Given the description of an element on the screen output the (x, y) to click on. 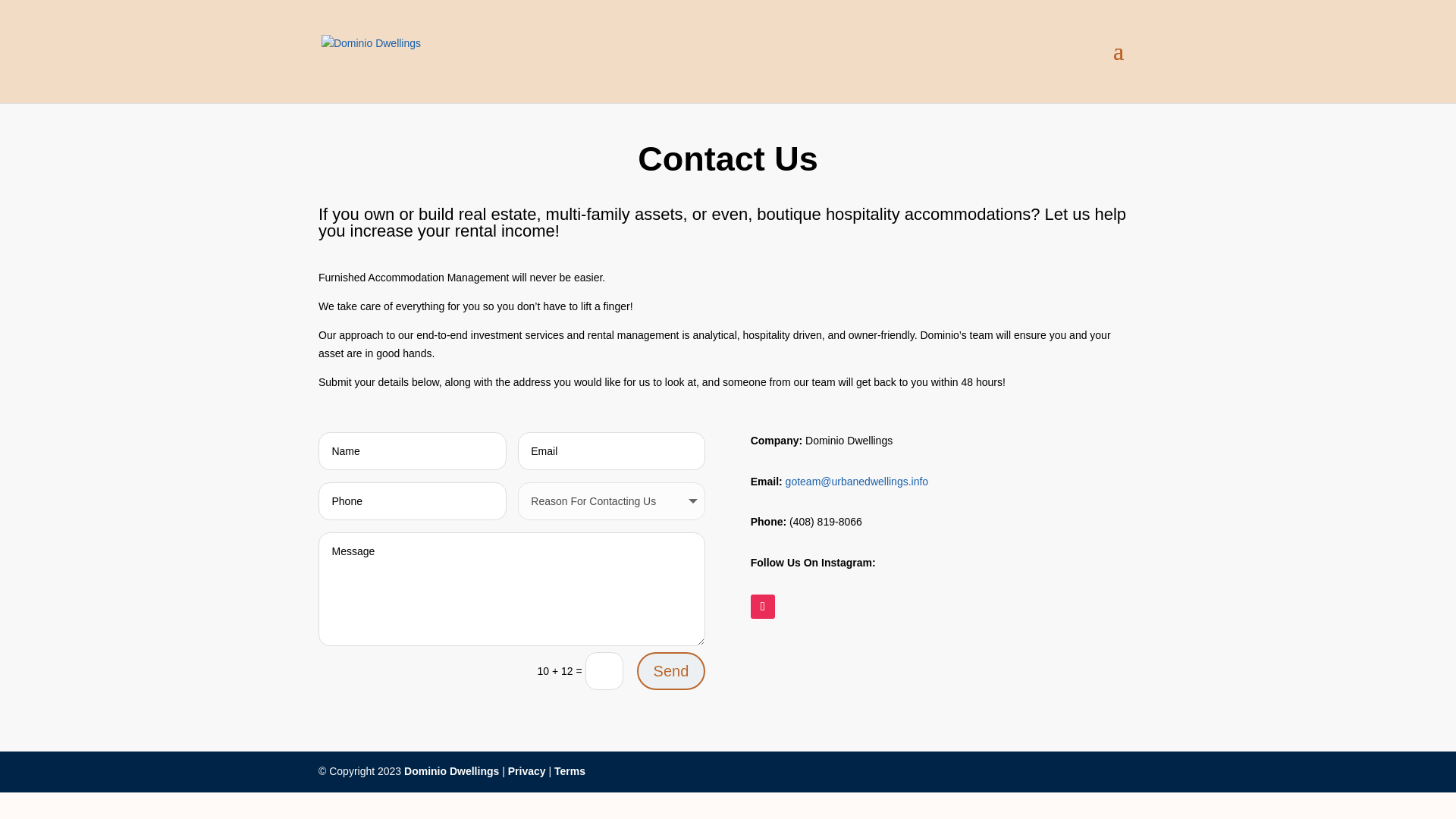
Maximum length: 255 characters. (411, 501)
Follow on Instagram (762, 606)
Privacy (527, 770)
Terms (569, 770)
Dominio Dwellings (451, 770)
Maximum length: 255 characters. (411, 451)
Send (671, 670)
